Given the description of an element on the screen output the (x, y) to click on. 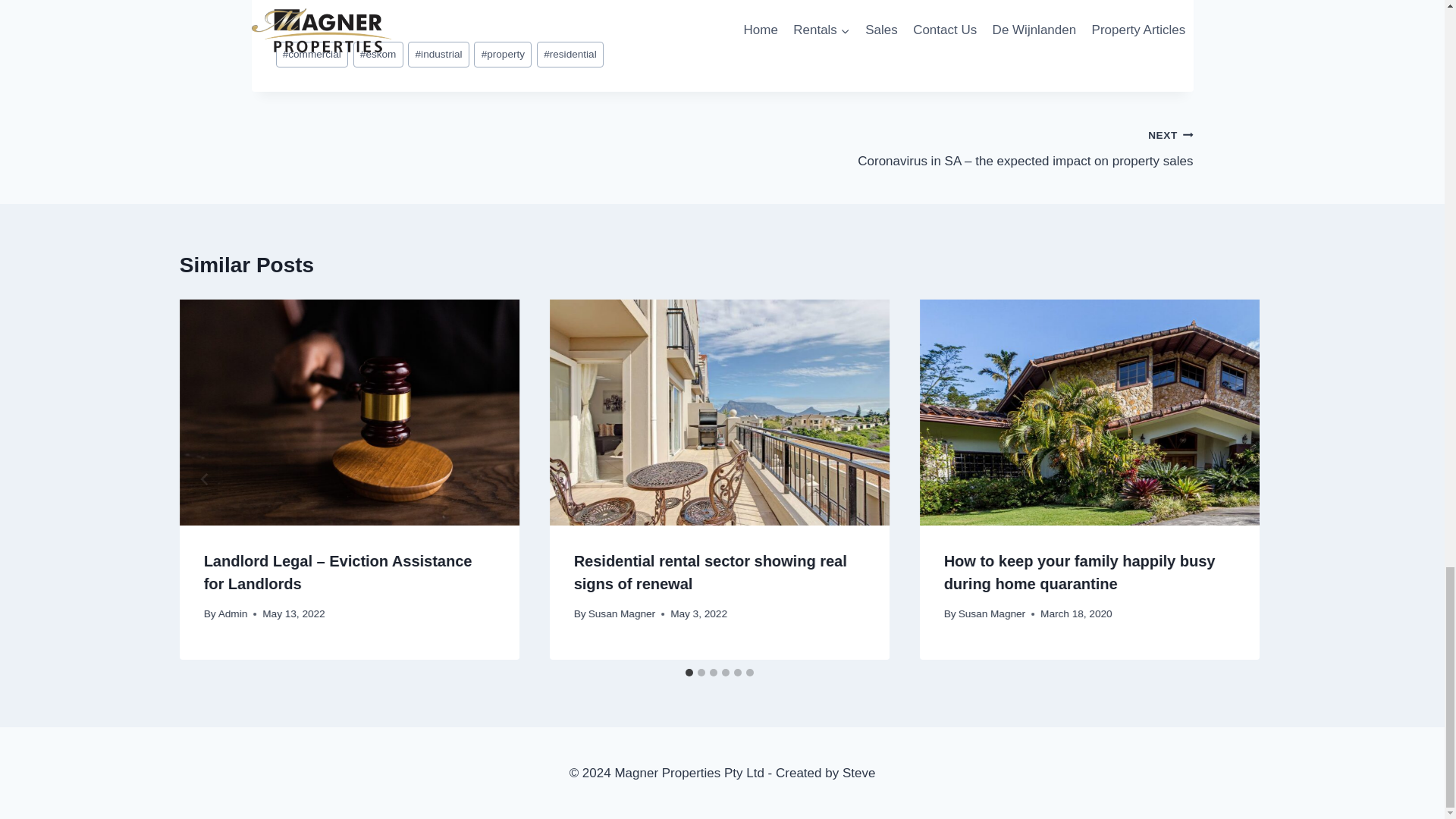
property (502, 54)
industrial (437, 54)
commercial (311, 54)
residential (570, 54)
eskom (378, 54)
